Given the description of an element on the screen output the (x, y) to click on. 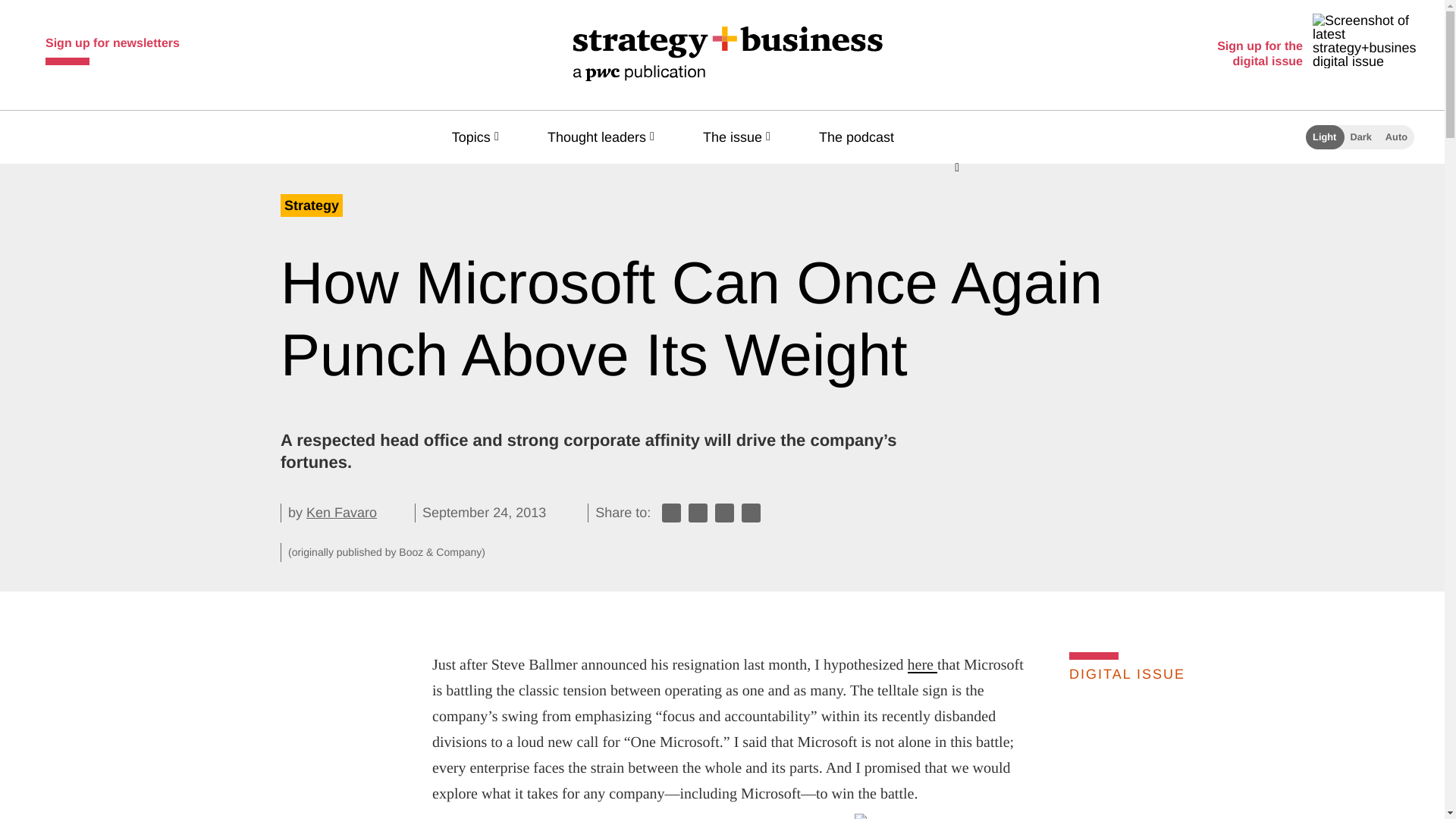
The issue (740, 136)
Topics (478, 136)
Illustration of flying birds delivering information (1033, 816)
Sign up for the digital issue (1313, 54)
Thought leaders (604, 136)
A collection of topics for thought leaders (604, 136)
Sign up for newsletters (112, 47)
Latest issue  (1193, 757)
The podcast (863, 136)
